Given the description of an element on the screen output the (x, y) to click on. 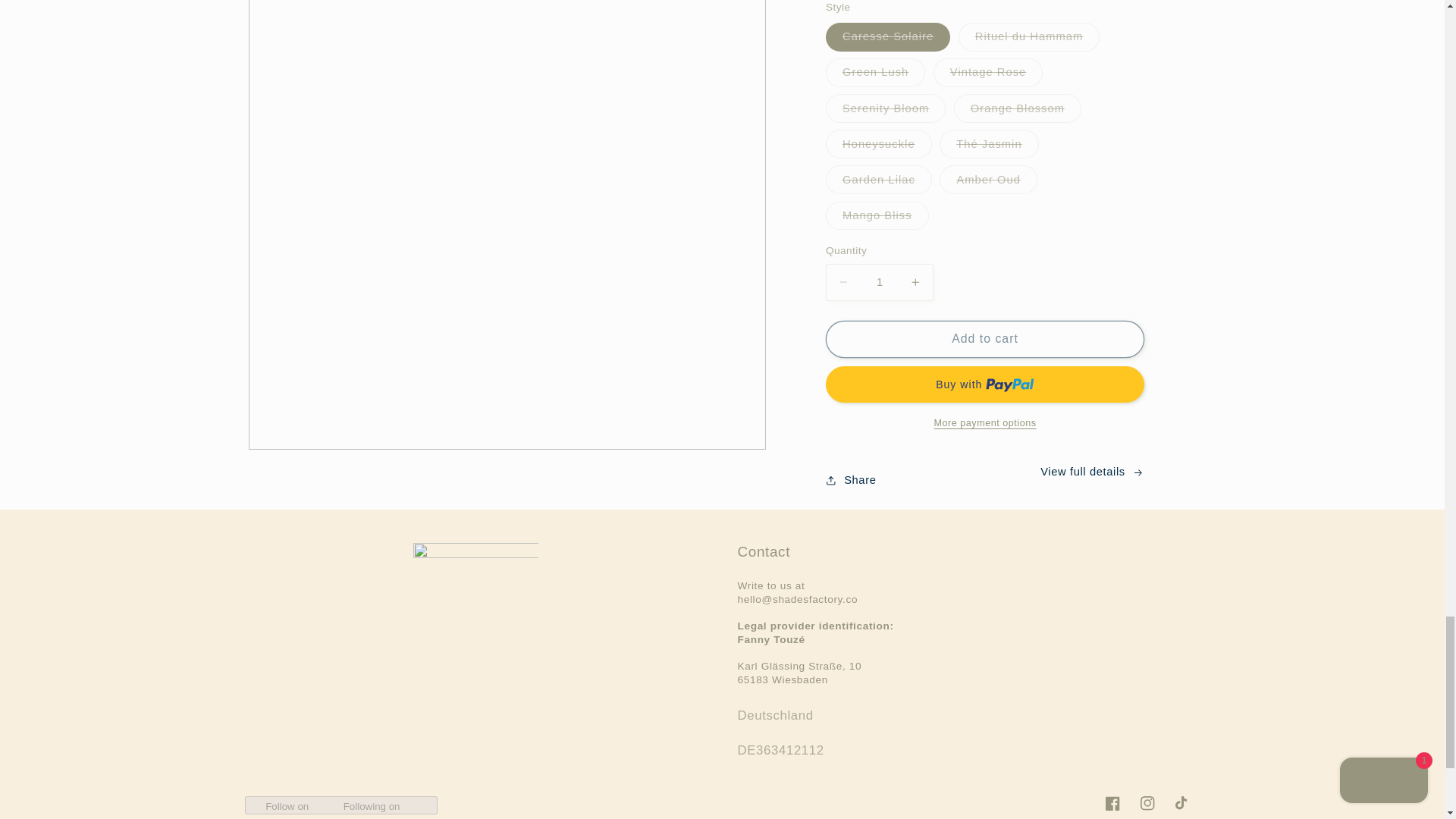
1 (879, 282)
